Given the description of an element on the screen output the (x, y) to click on. 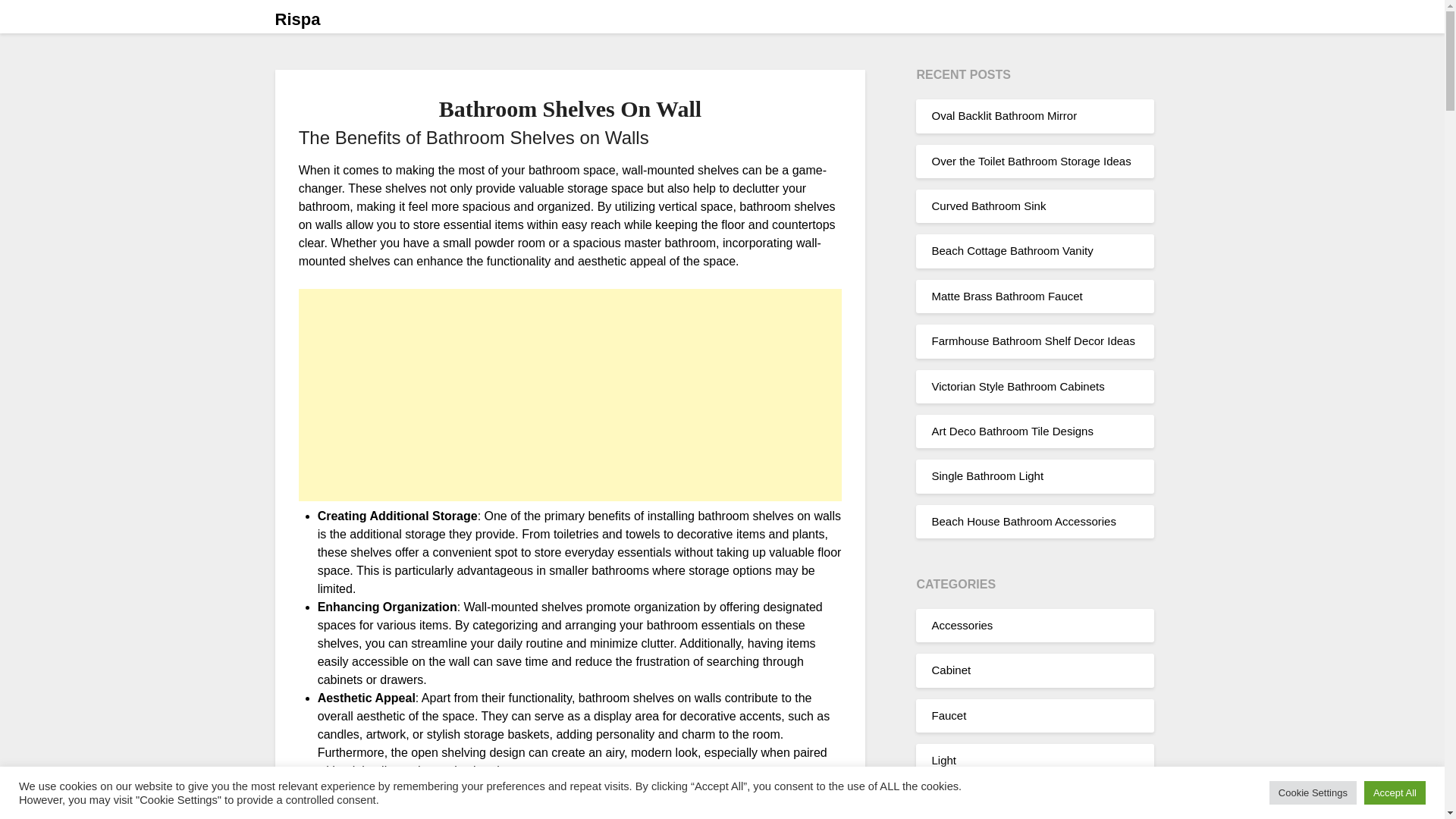
Single Bathroom Light (987, 475)
Over the Toilet Bathroom Storage Ideas (1031, 160)
Curved Bathroom Sink (988, 205)
Matte Brass Bathroom Faucet (1006, 295)
Farmhouse Bathroom Shelf Decor Ideas (1032, 340)
Mirror (945, 805)
Rispa (297, 19)
Art Deco Bathroom Tile Designs (1012, 431)
Victorian Style Bathroom Cabinets (1017, 385)
Beach Cottage Bathroom Vanity (1012, 250)
Accessories (961, 625)
Beach House Bathroom Accessories (1023, 521)
Oval Backlit Bathroom Mirror (1004, 115)
Cabinet (951, 669)
Light (943, 759)
